Given the description of an element on the screen output the (x, y) to click on. 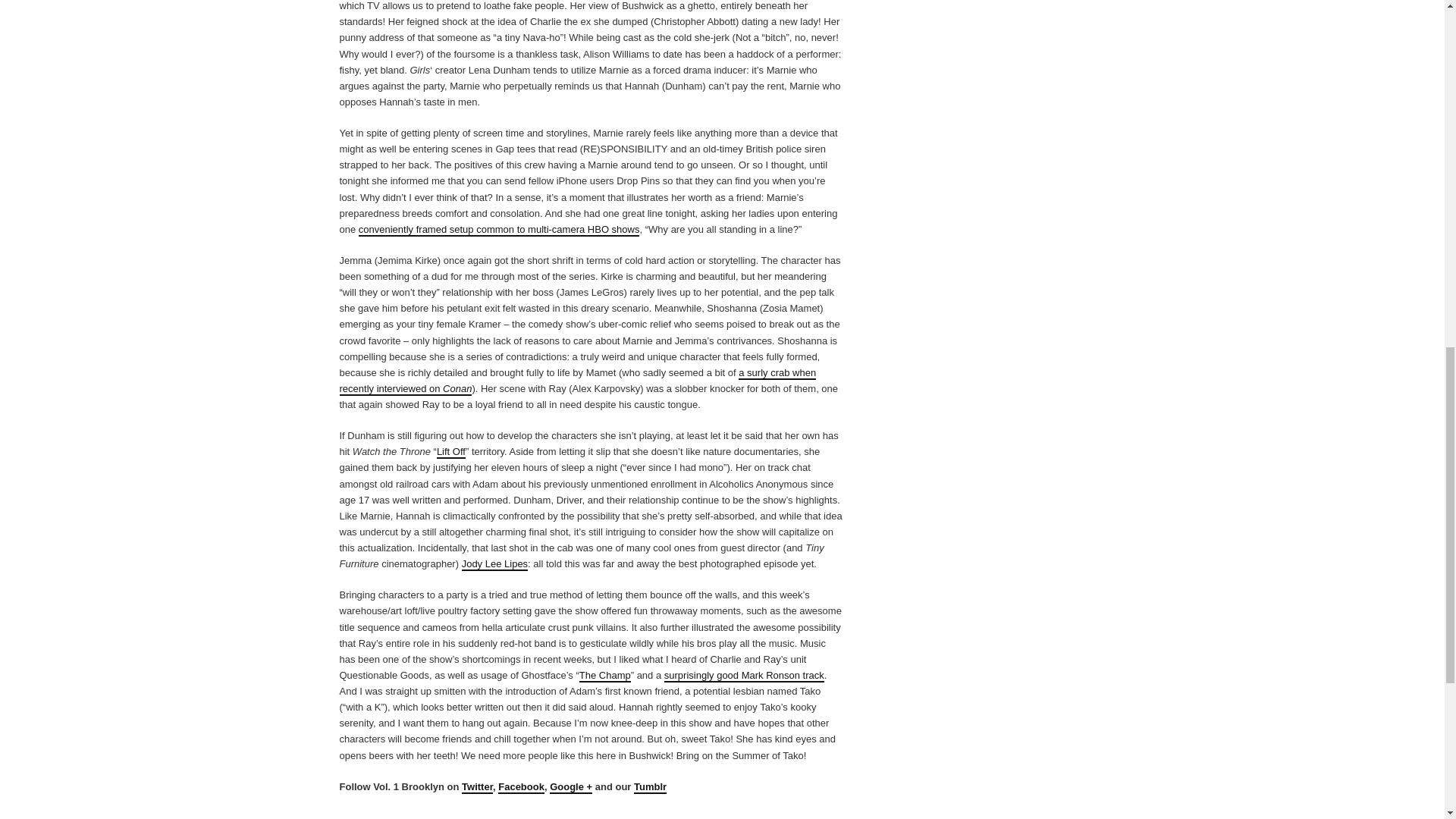
Tumblr (649, 787)
surprisingly good Mark Ronson track (743, 675)
Lift Off (450, 451)
Facebook (520, 787)
Conan (456, 389)
a surly crab when recently interviewed on (577, 380)
Jody Lee Lipes (494, 563)
conveniently framed setup common to multi-camera HBO shows (499, 229)
The Champ (604, 675)
Twitter (477, 787)
